Given the description of an element on the screen output the (x, y) to click on. 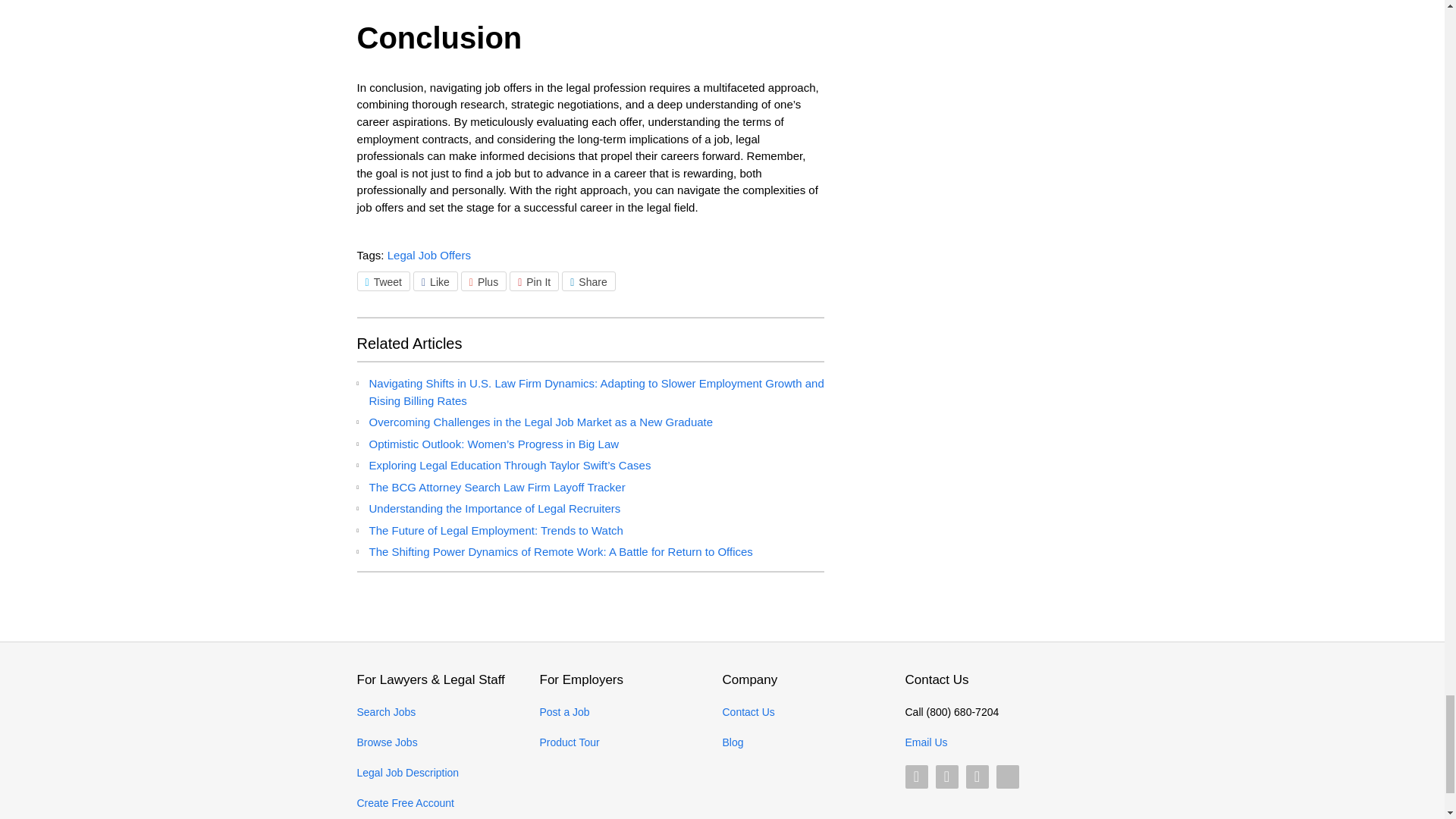
Like (435, 281)
Tweet (382, 281)
The BCG Attorney Search Law Firm Layoff Tracker (496, 486)
Legal Job Offers (428, 254)
Pin It (534, 281)
Plus (483, 281)
Share (588, 281)
Understanding the Importance of Legal Recruiters (494, 508)
